Given the description of an element on the screen output the (x, y) to click on. 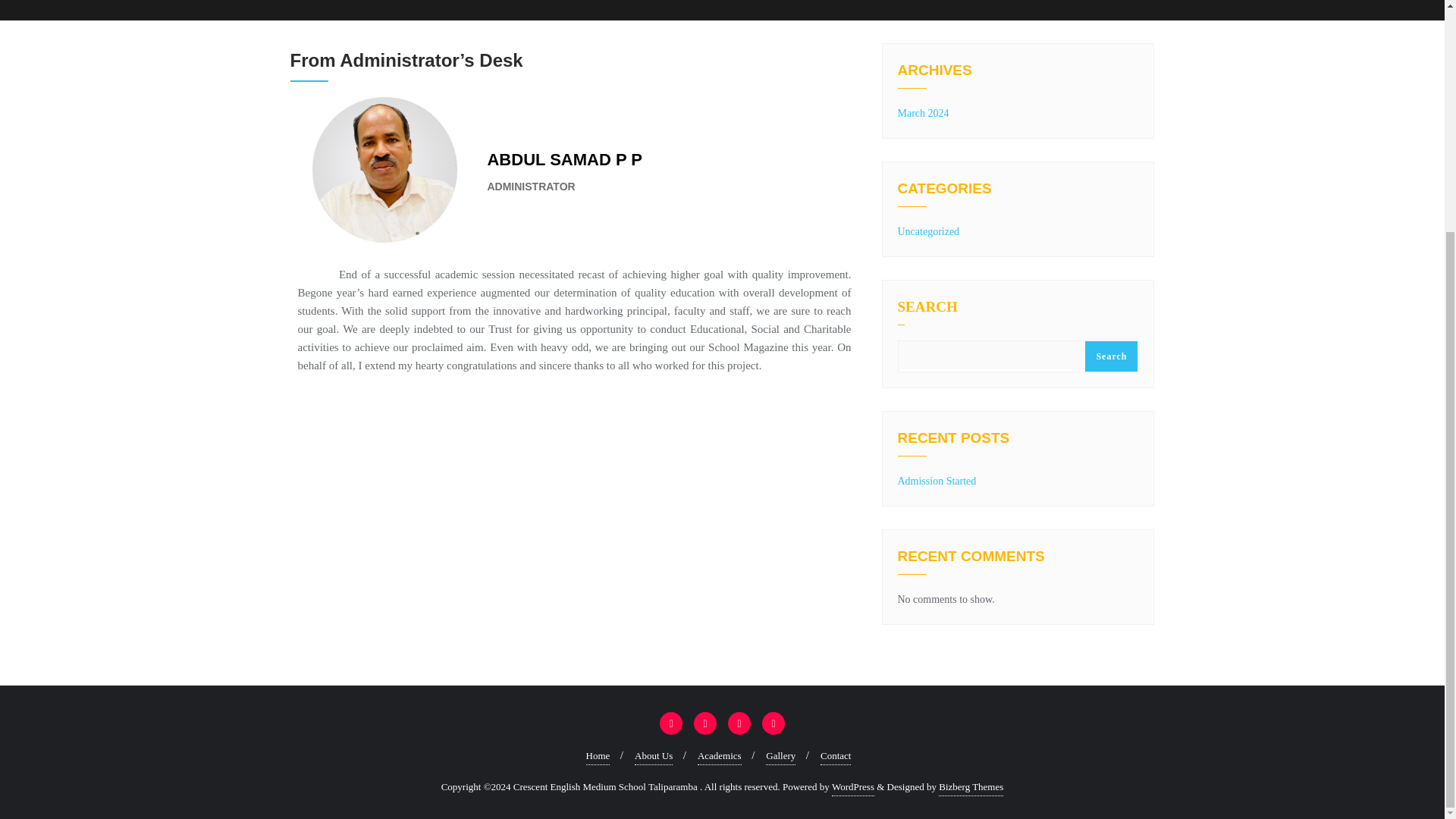
Uncategorized (928, 231)
Admission Started (937, 480)
March 2024 (923, 112)
Search (1110, 356)
